Given the description of an element on the screen output the (x, y) to click on. 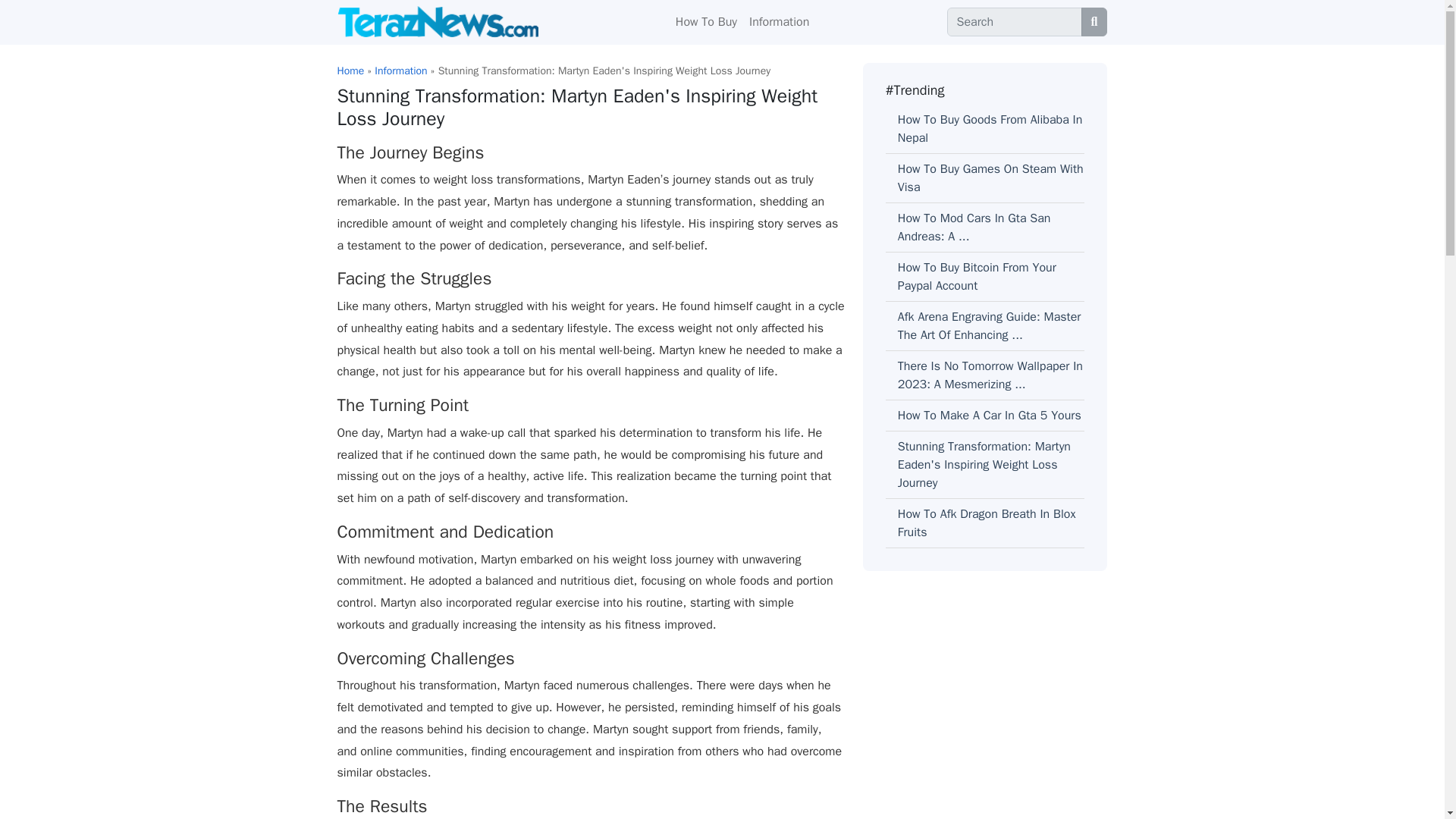
How To Make A Car In Gta 5 Yours (989, 415)
TerazNews.com (436, 20)
How To Buy (705, 21)
How To Buy Games On Steam With Visa (990, 177)
Information (778, 21)
How To Afk Dragon Breath In Blox Fruits (986, 522)
Information (778, 21)
How To Buy (705, 21)
How To Buy Goods From Alibaba In Nepal (990, 128)
Information (400, 70)
Home (350, 70)
Search (1014, 21)
